Given the description of an element on the screen output the (x, y) to click on. 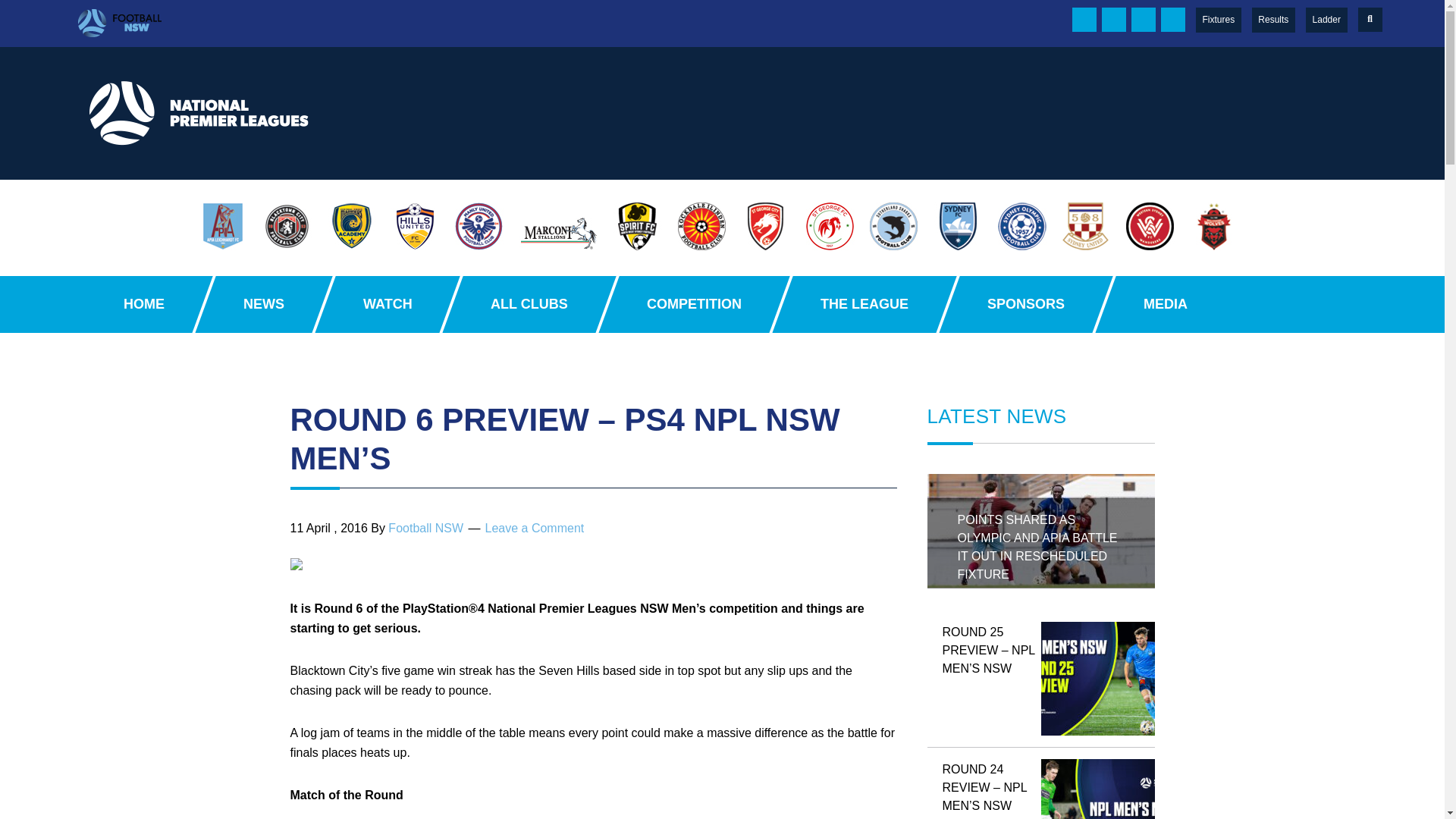
Ladder (1326, 19)
Fixtures (1218, 19)
NPL Men's NSW (201, 112)
Results (1286, 19)
Football NSW (1273, 19)
Skip to primary navigation (460, 24)
